Given the description of an element on the screen output the (x, y) to click on. 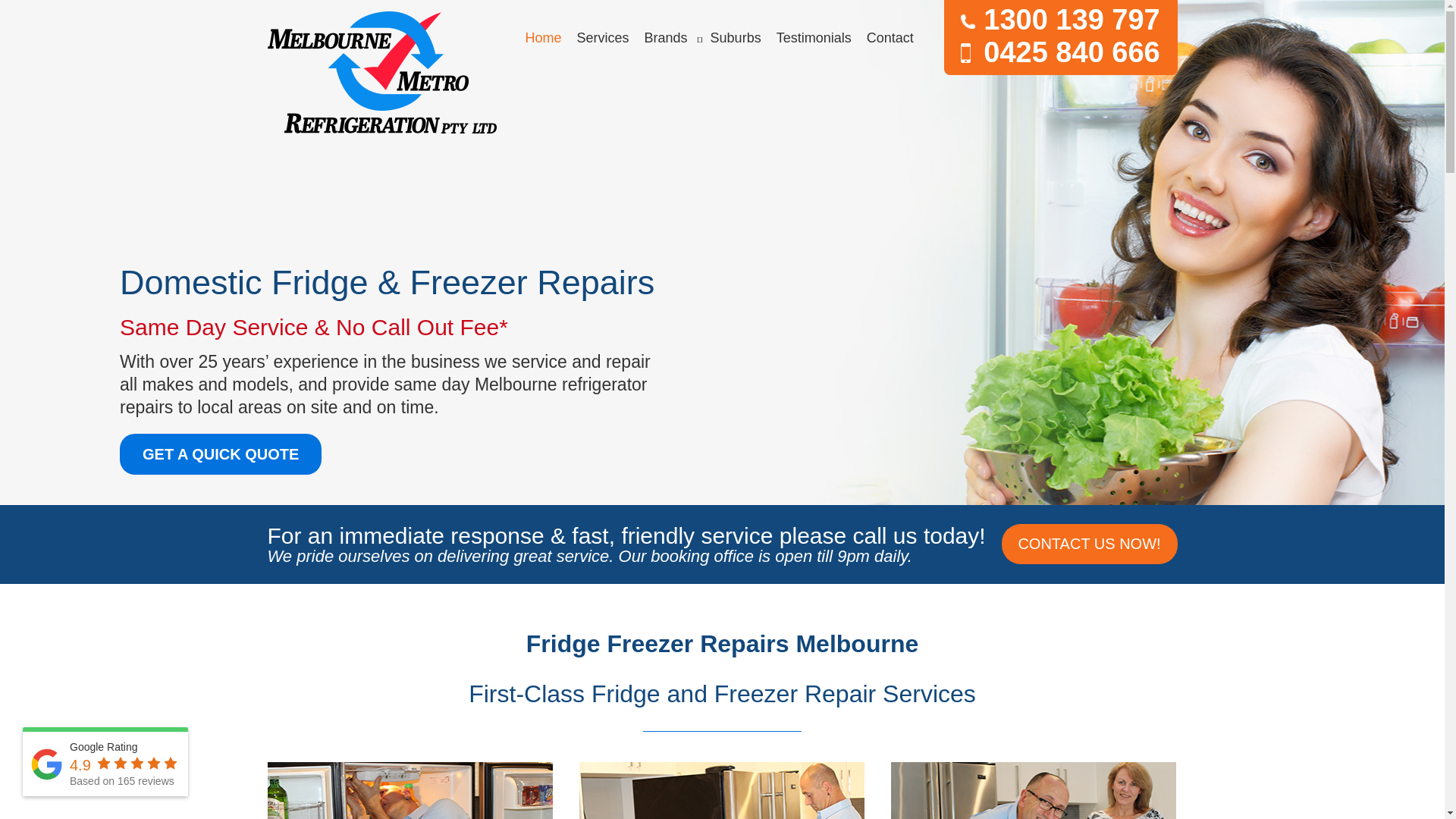
0425 840 666 Element type: text (1059, 52)
CONTACT US NOW! Element type: text (1088, 544)
Services Element type: text (603, 38)
Brands Element type: text (666, 38)
GET A QUICK QUOTE Element type: text (220, 453)
Testimonials Element type: text (813, 38)
Suburbs Element type: text (735, 38)
Melbourne Metro Refrigeration Element type: hover (380, 72)
Contact Element type: text (890, 38)
1300 139 797 Element type: text (1059, 19)
Home Element type: text (542, 38)
